Given the description of an element on the screen output the (x, y) to click on. 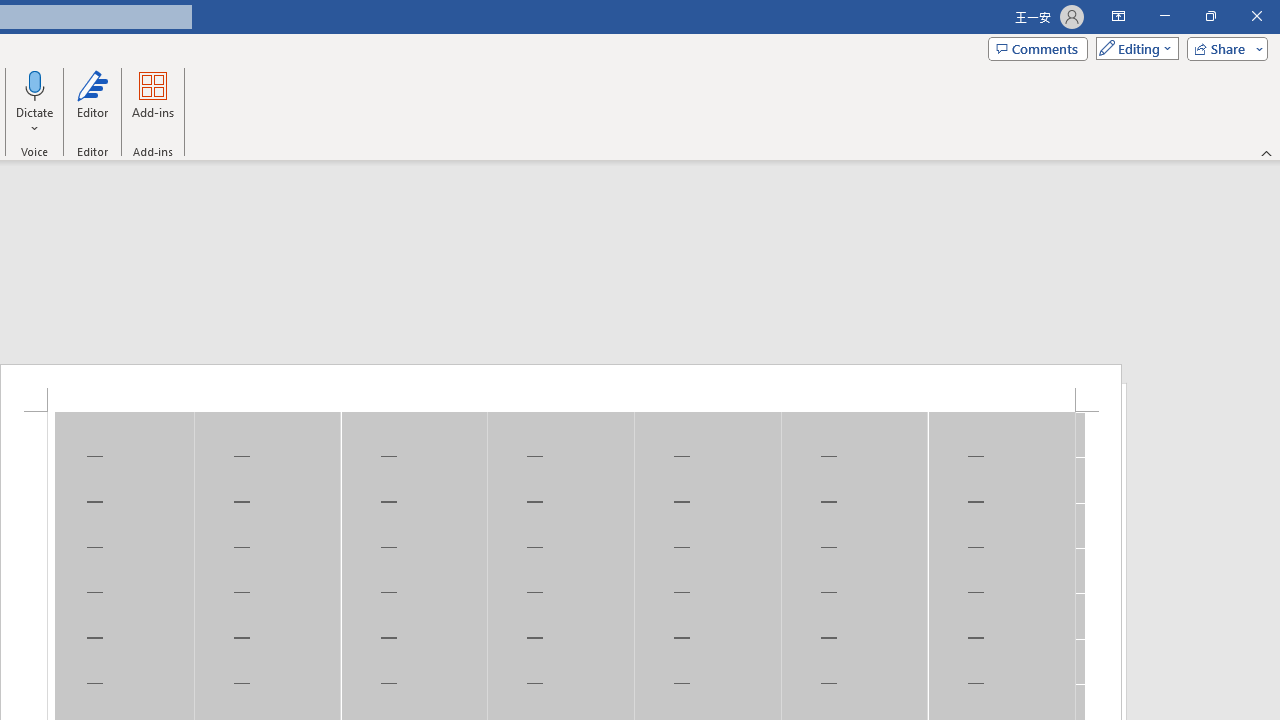
Header -Section 1- (561, 387)
